Given the description of an element on the screen output the (x, y) to click on. 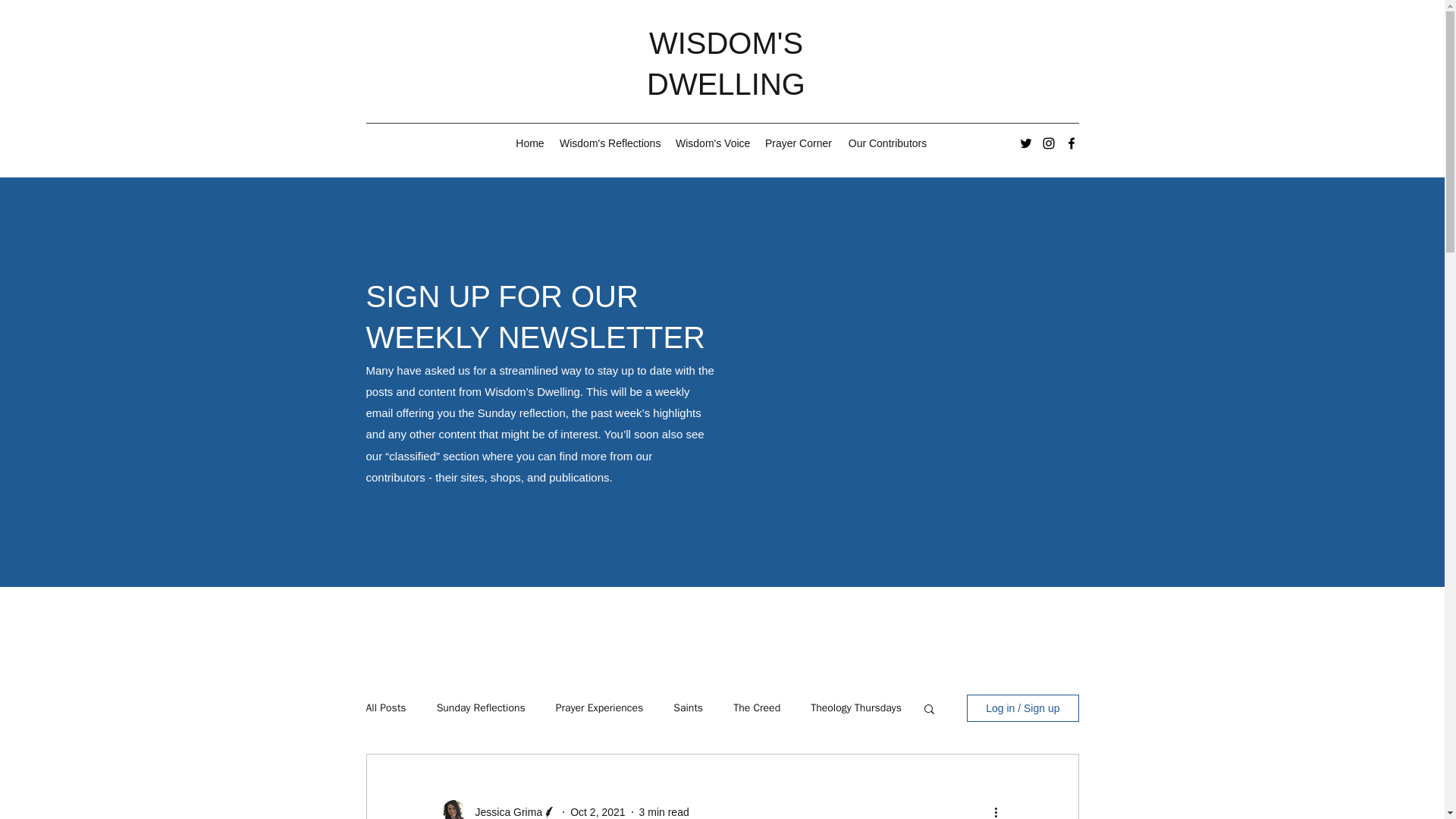
Sunday Reflections (480, 707)
Our Contributors (887, 142)
Jessica Grima (503, 811)
Theology Thursdays (855, 707)
Home (529, 142)
WISDOM'S DWELLING (725, 63)
The Creed (756, 707)
All Posts (385, 707)
Saints (687, 707)
Prayer Experiences (599, 707)
